Given the description of an element on the screen output the (x, y) to click on. 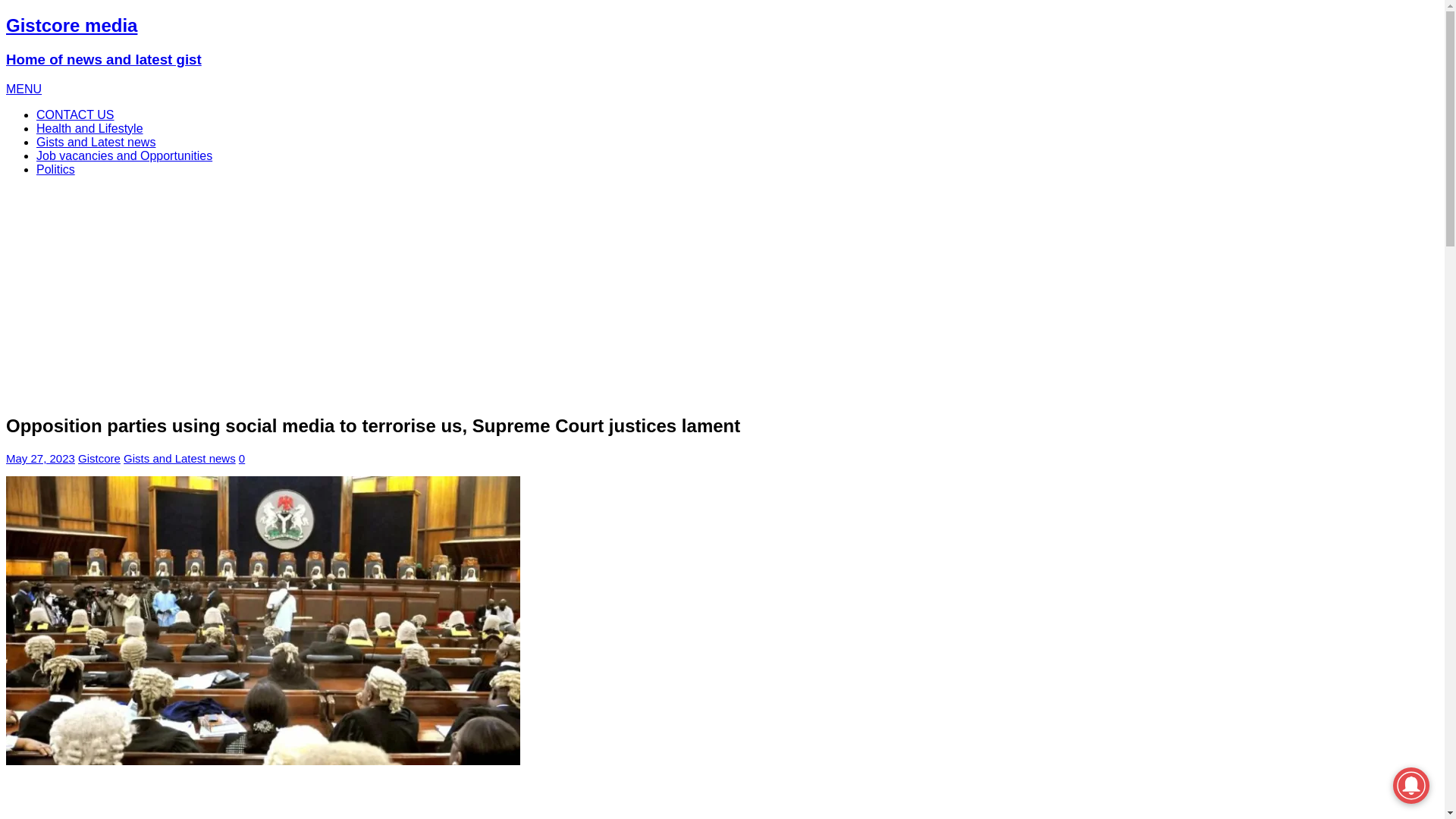
Job vacancies and Opportunities (124, 155)
Gists and Latest news (95, 141)
May 27, 2023 (40, 458)
Politics (55, 169)
Health and Lifestyle (89, 128)
Advertisement (460, 799)
Gists and Latest news (179, 458)
MENU (23, 88)
Gistcore (99, 458)
CONTACT US (75, 114)
